Given the description of an element on the screen output the (x, y) to click on. 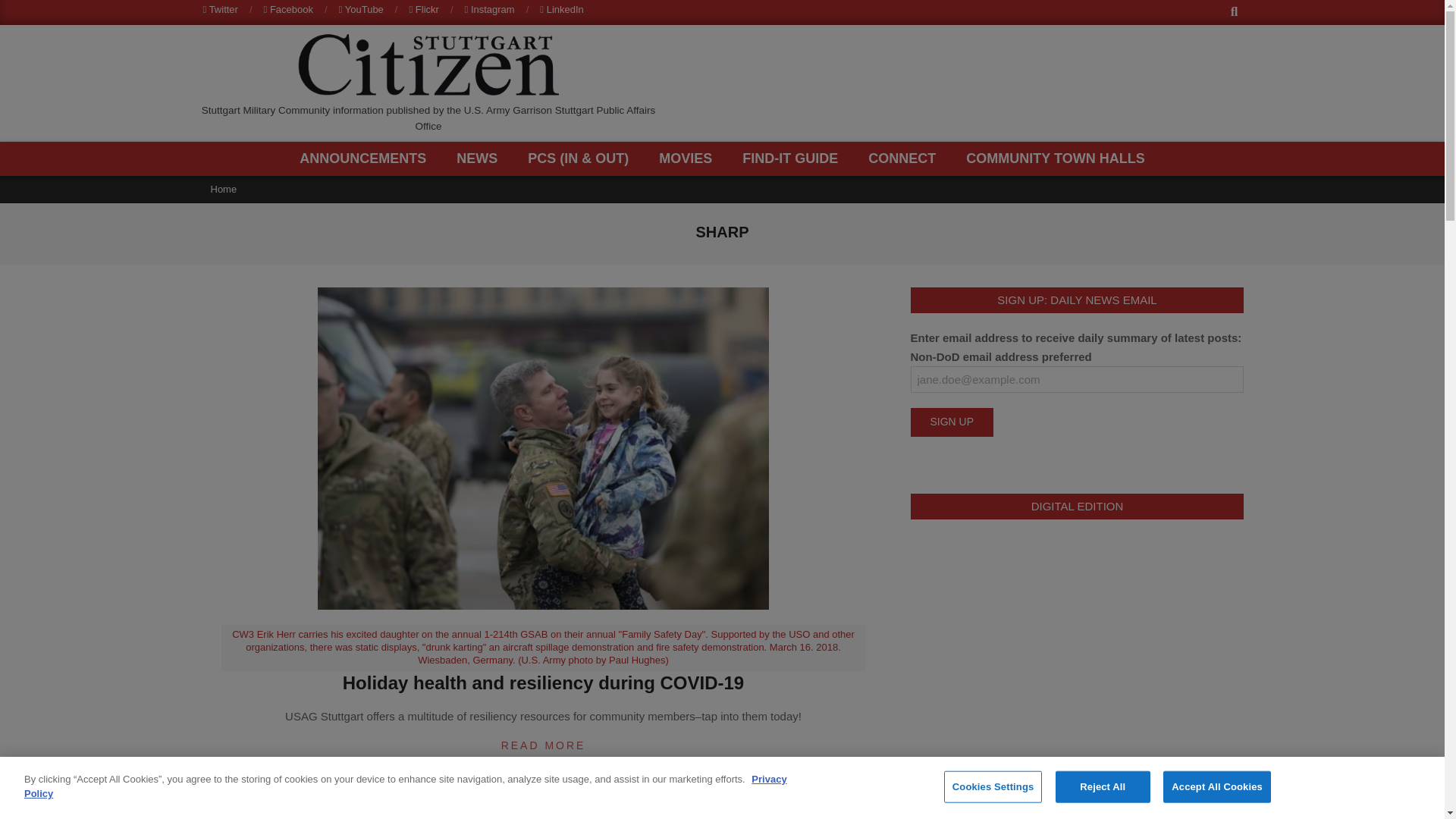
FIND-IT GUIDE (793, 158)
Twitter (220, 9)
YouTube (361, 9)
Sign up (951, 421)
ANNOUNCEMENTS (366, 158)
Flickr (423, 9)
Search (24, 9)
MOVIES (688, 158)
NEWS (480, 158)
Facebook (288, 9)
3rd party ad content (963, 83)
Go to StuttgartCitizen.com. (224, 188)
LinkedIn (561, 9)
CONNECT (906, 158)
Instagram (489, 9)
